Given the description of an element on the screen output the (x, y) to click on. 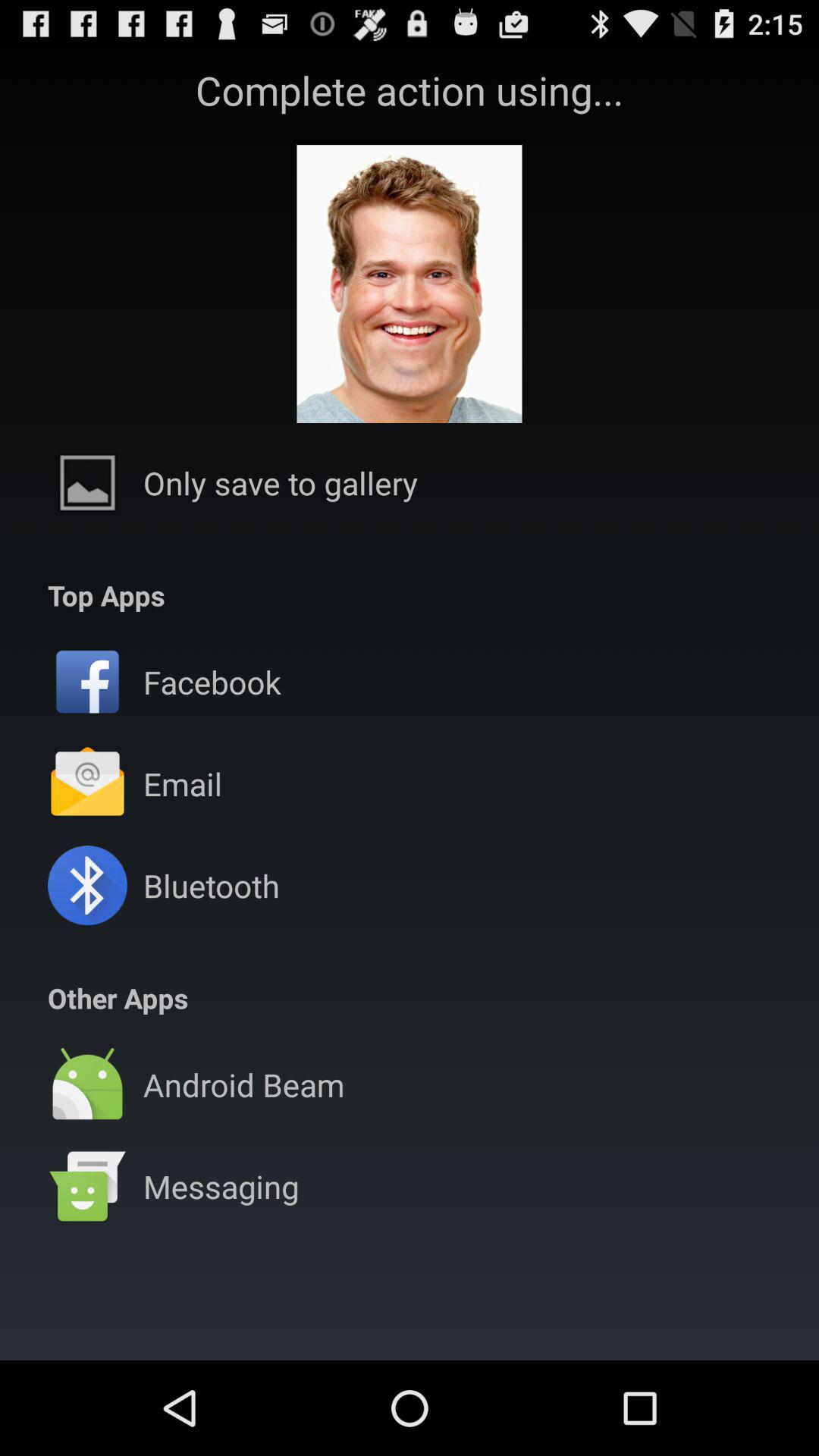
swipe until the bluetooth icon (211, 885)
